Given the description of an element on the screen output the (x, y) to click on. 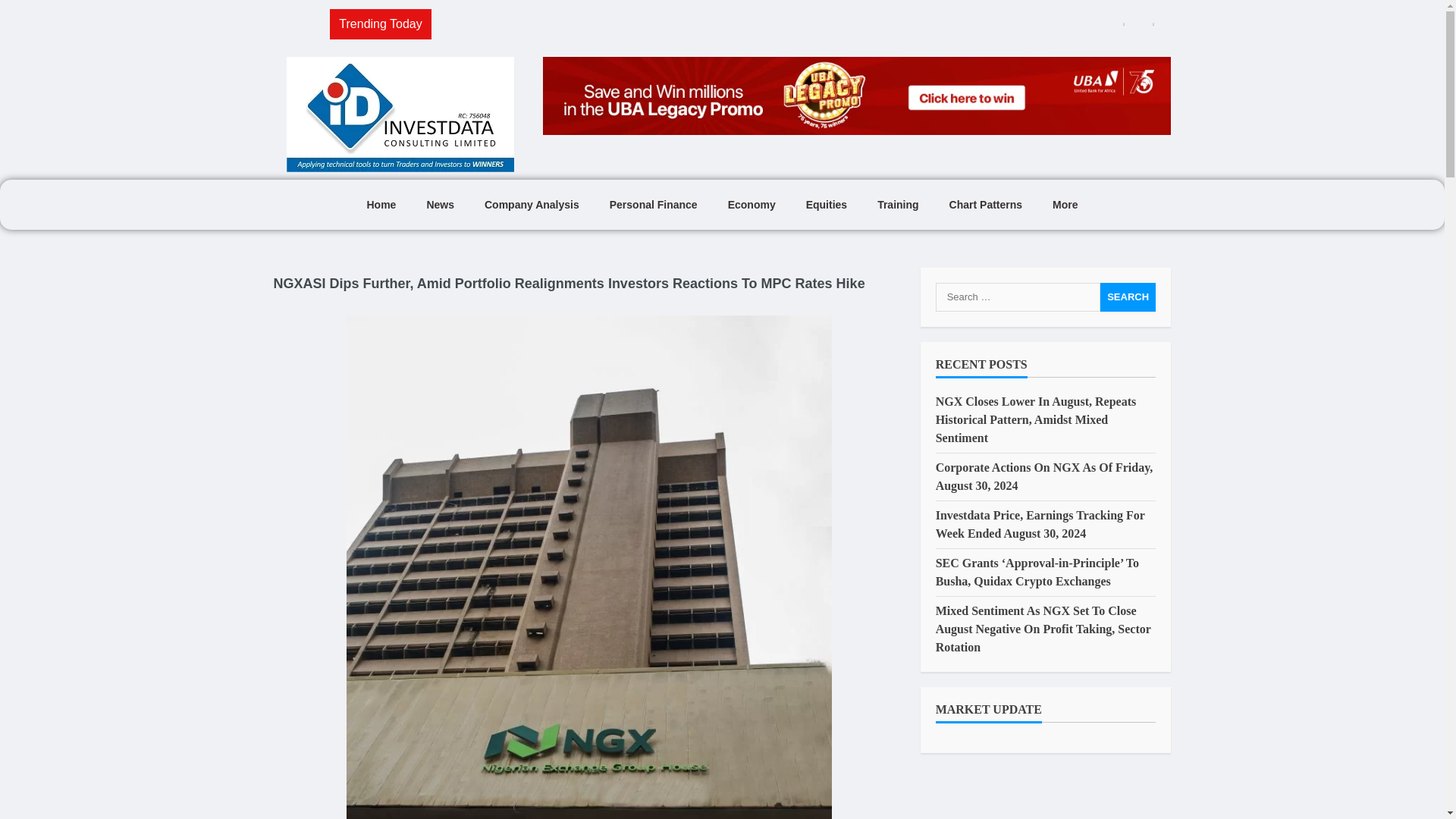
Chart Patterns (985, 204)
Economy (751, 204)
More (1064, 204)
Search (1128, 297)
Personal Finance (653, 204)
Home (380, 204)
Search (1128, 297)
Equities (825, 204)
Training (897, 204)
Corporate Actions On NGX As Of Friday, August 30, 2024 (1044, 476)
